Given the description of an element on the screen output the (x, y) to click on. 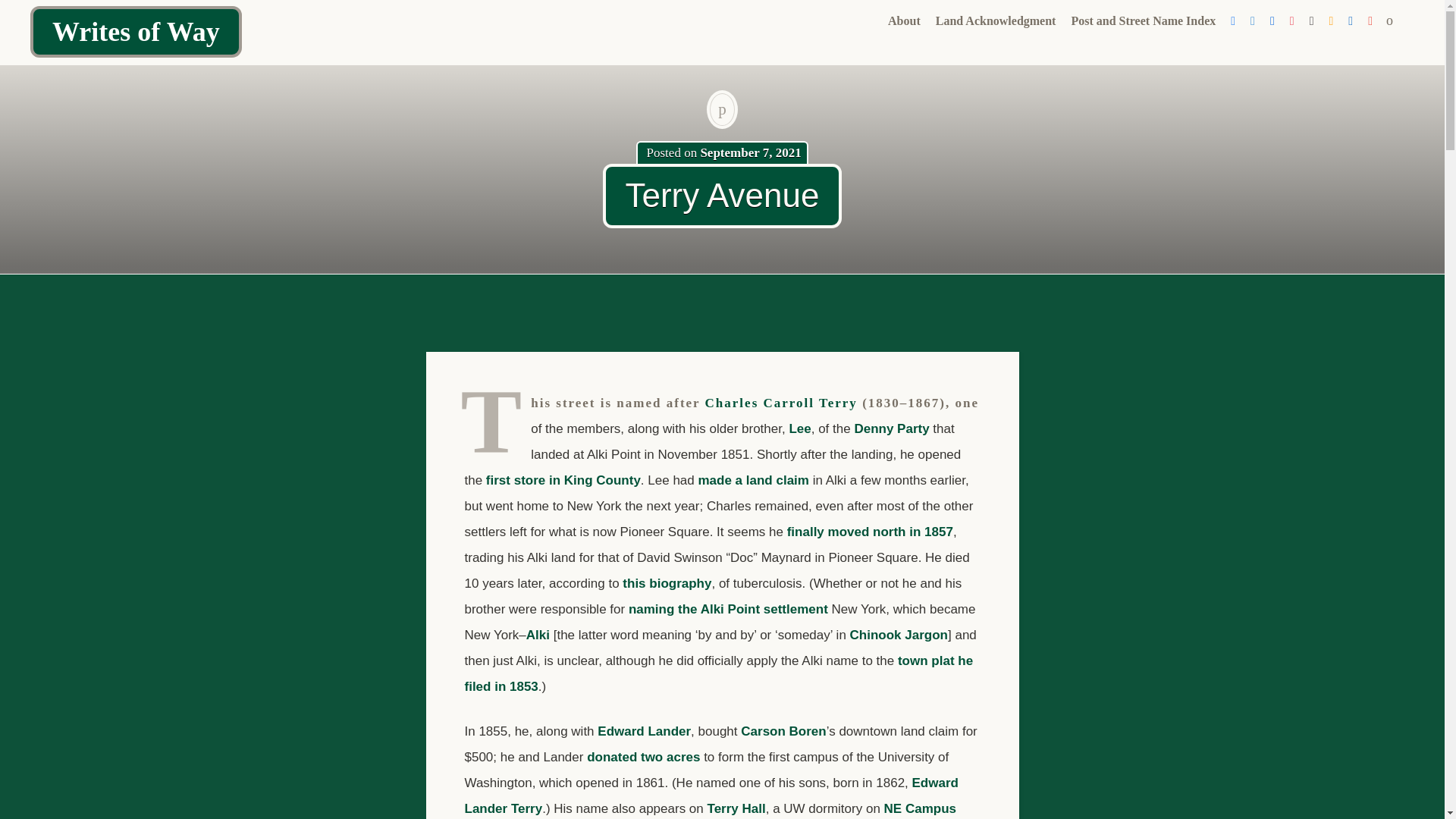
this biography (667, 583)
first store in King County (563, 480)
Skip to content (890, 44)
Land Acknowledgment (996, 21)
My book, Seattle Then and Now (1292, 21)
Alki (537, 635)
My LinkedIn profile (1350, 21)
Writes of Way (135, 31)
town plat he filed in 1853 (718, 673)
Writes of Way (135, 31)
naming the Alki Point settlement (728, 608)
Carson Boren (783, 730)
Edward Lander Terry (711, 795)
Denny Party (890, 428)
made a land claim (752, 480)
